Given the description of an element on the screen output the (x, y) to click on. 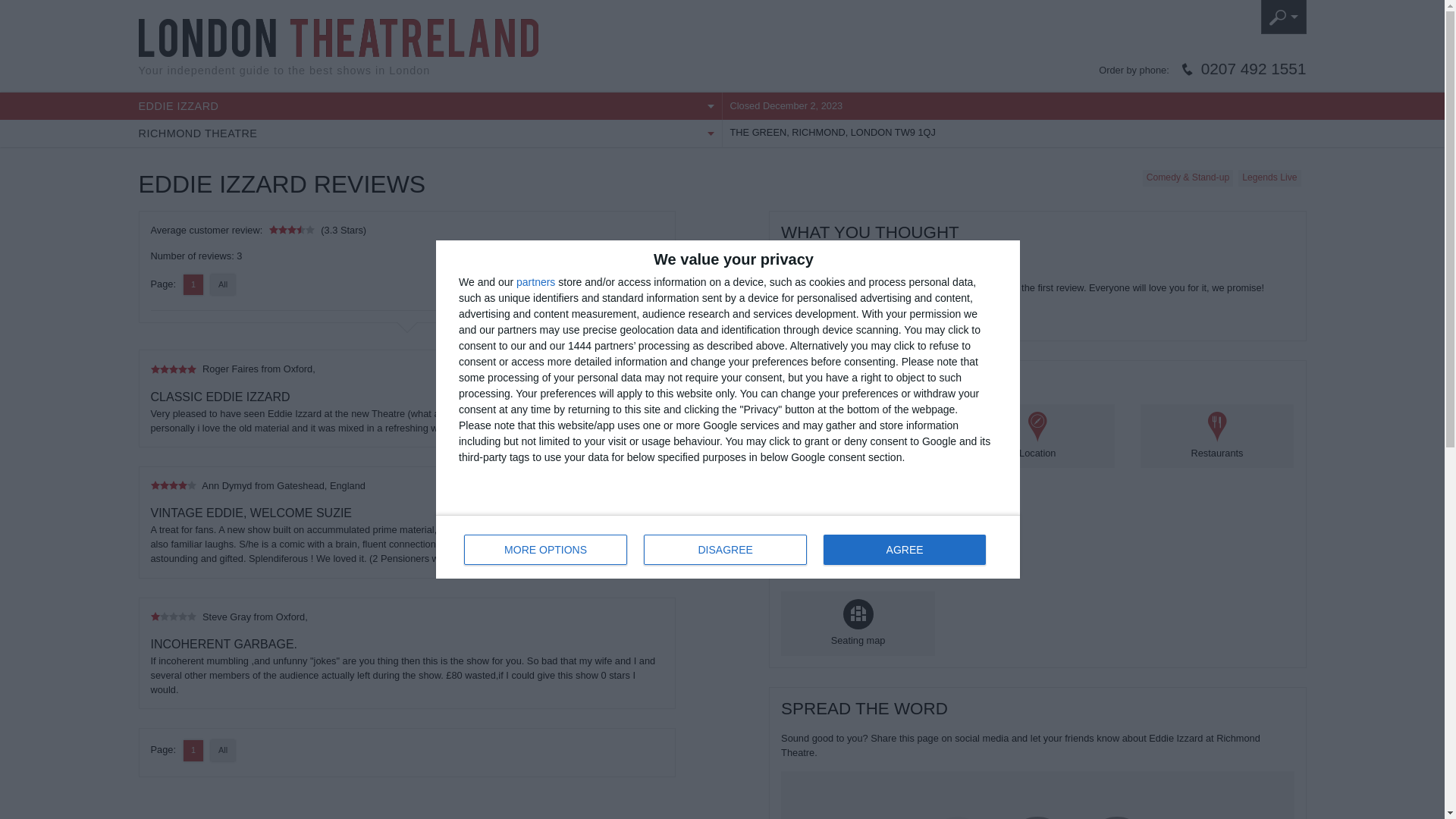
DISAGREE (724, 549)
partners (535, 281)
RICHMOND THEATRE (727, 546)
London Theatreland (429, 133)
AGREE (337, 37)
EDDIE IZZARD (904, 549)
MORE OPTIONS (429, 105)
Legends Live (545, 549)
All (1253, 69)
1 (1269, 177)
1 (222, 284)
